Given the description of an element on the screen output the (x, y) to click on. 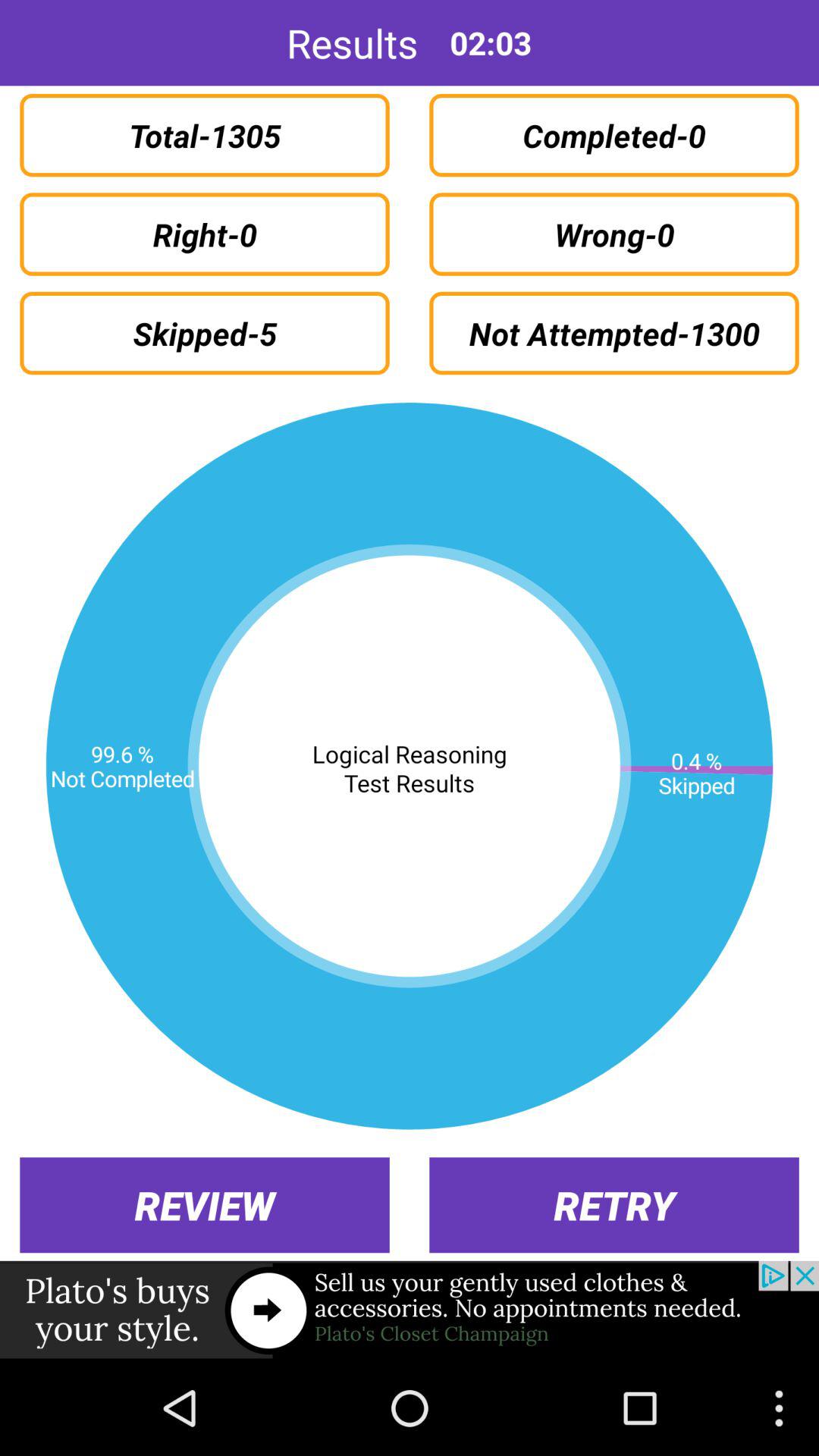
advertisement option (409, 1310)
